Given the description of an element on the screen output the (x, y) to click on. 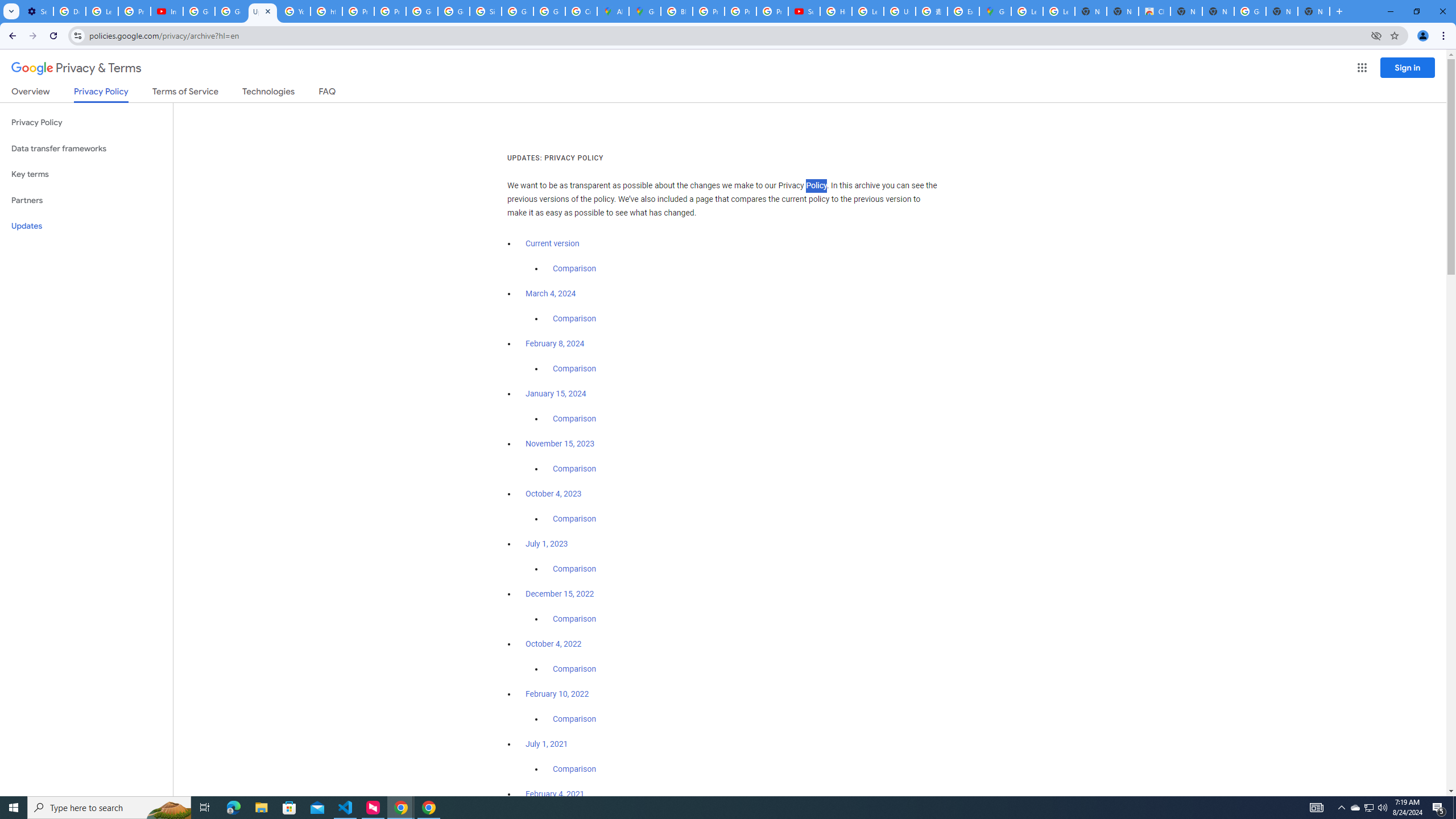
July 1, 2023 (546, 543)
Partners (86, 199)
YouTube (294, 11)
January 15, 2024 (555, 394)
Google Maps (644, 11)
Google Account Help (198, 11)
